Given the description of an element on the screen output the (x, y) to click on. 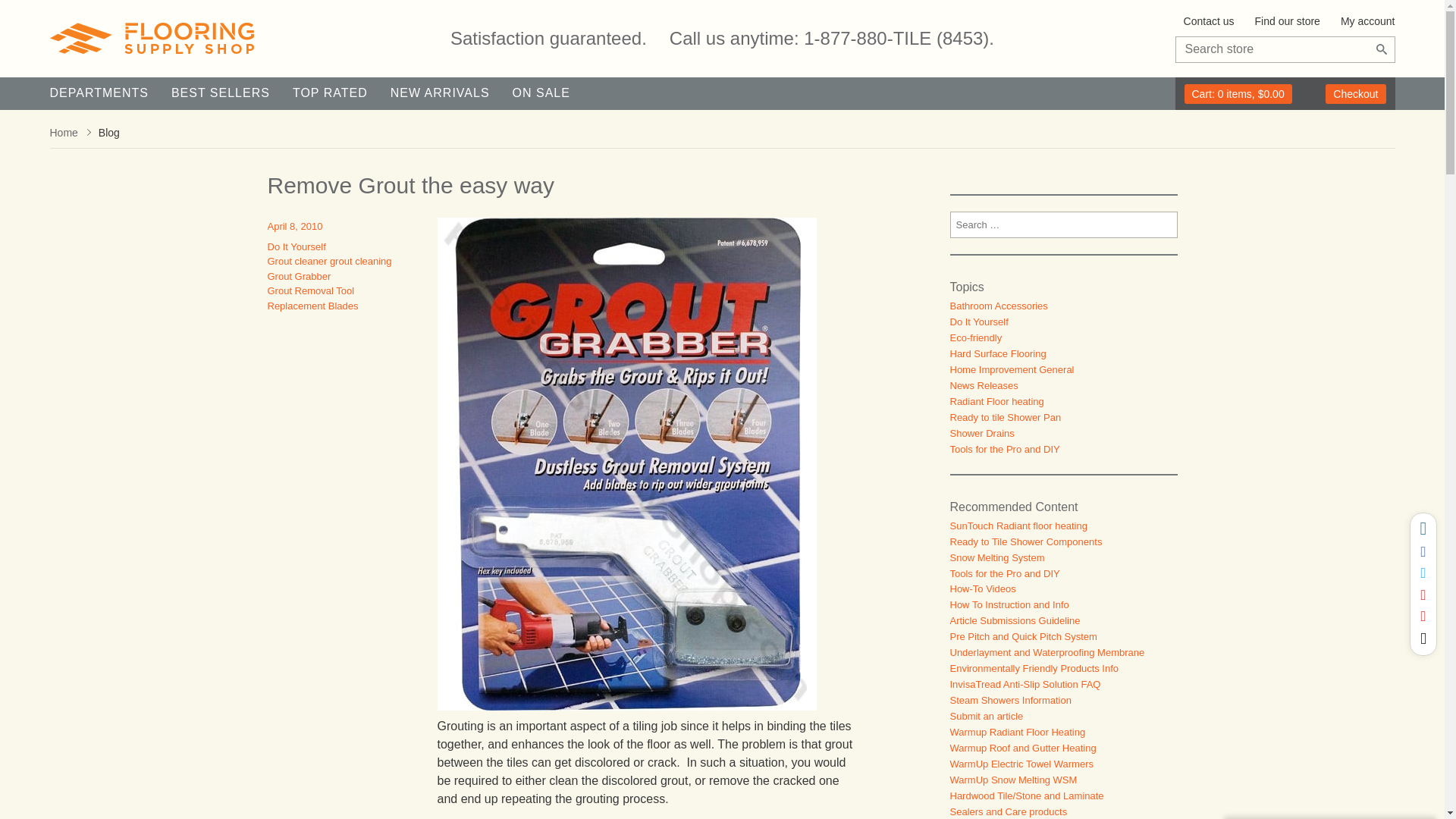
Steam Showers Information (1009, 699)
How-To Videos (981, 588)
WarmUp Electric Towel Warmers (1021, 763)
How To Instruction and Info (1008, 604)
Article Submissions Guideline (1014, 620)
Sealers and Care products (1008, 811)
Ready to Tile Shower Components (1025, 541)
SunTouch Radiant floor heating (1017, 525)
Underlayment and Waterproofing Membrane (1046, 652)
Tools for the Pro and DIY (1004, 572)
